Given the description of an element on the screen output the (x, y) to click on. 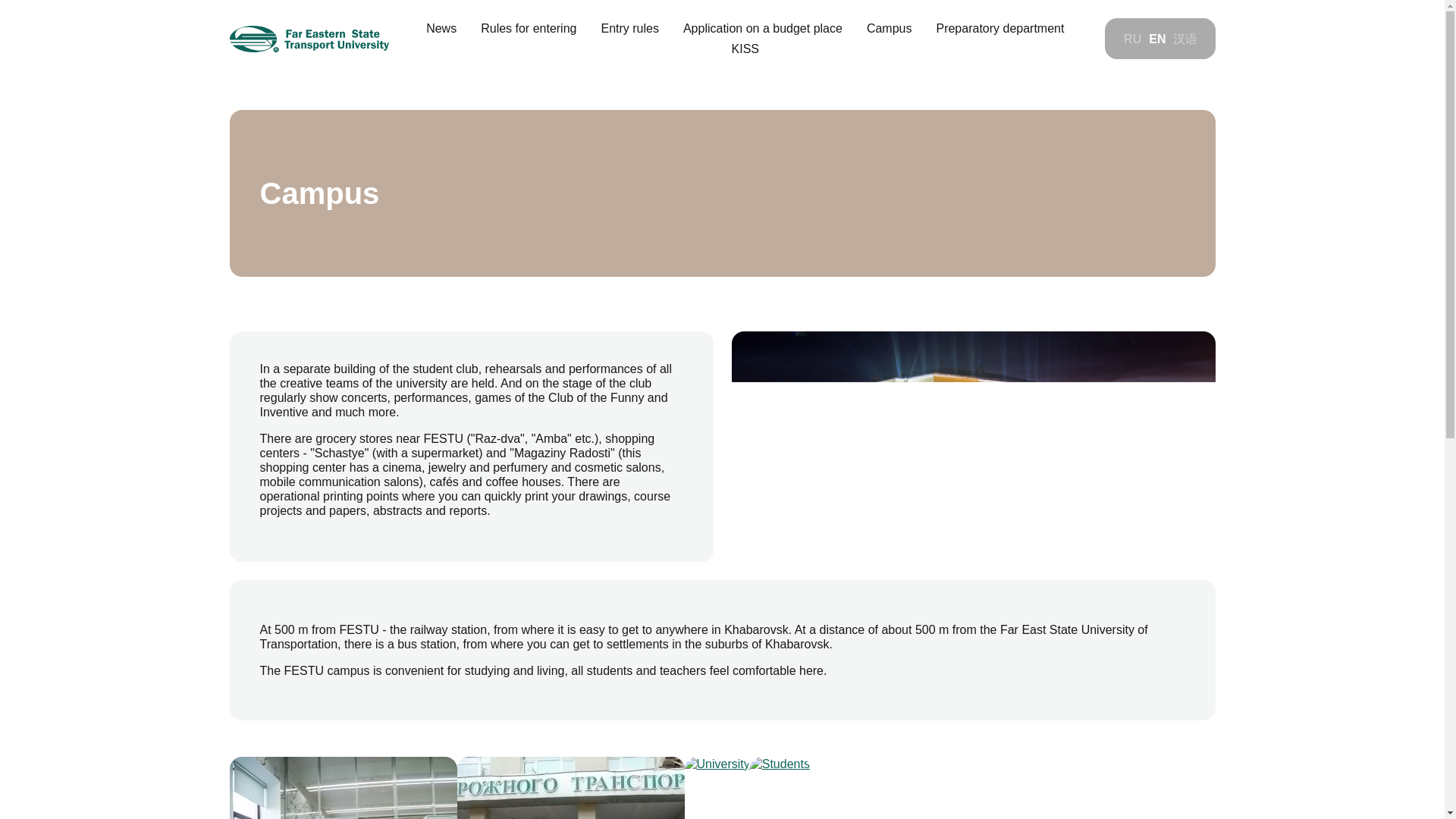
Far Eastern State Transport University (308, 38)
KISS (745, 48)
RU (1132, 38)
Application on a budget place (762, 28)
EN (1157, 38)
Preparatory department (1000, 28)
Entry rules (628, 28)
News (441, 28)
Rules for entering (528, 28)
